Given the description of an element on the screen output the (x, y) to click on. 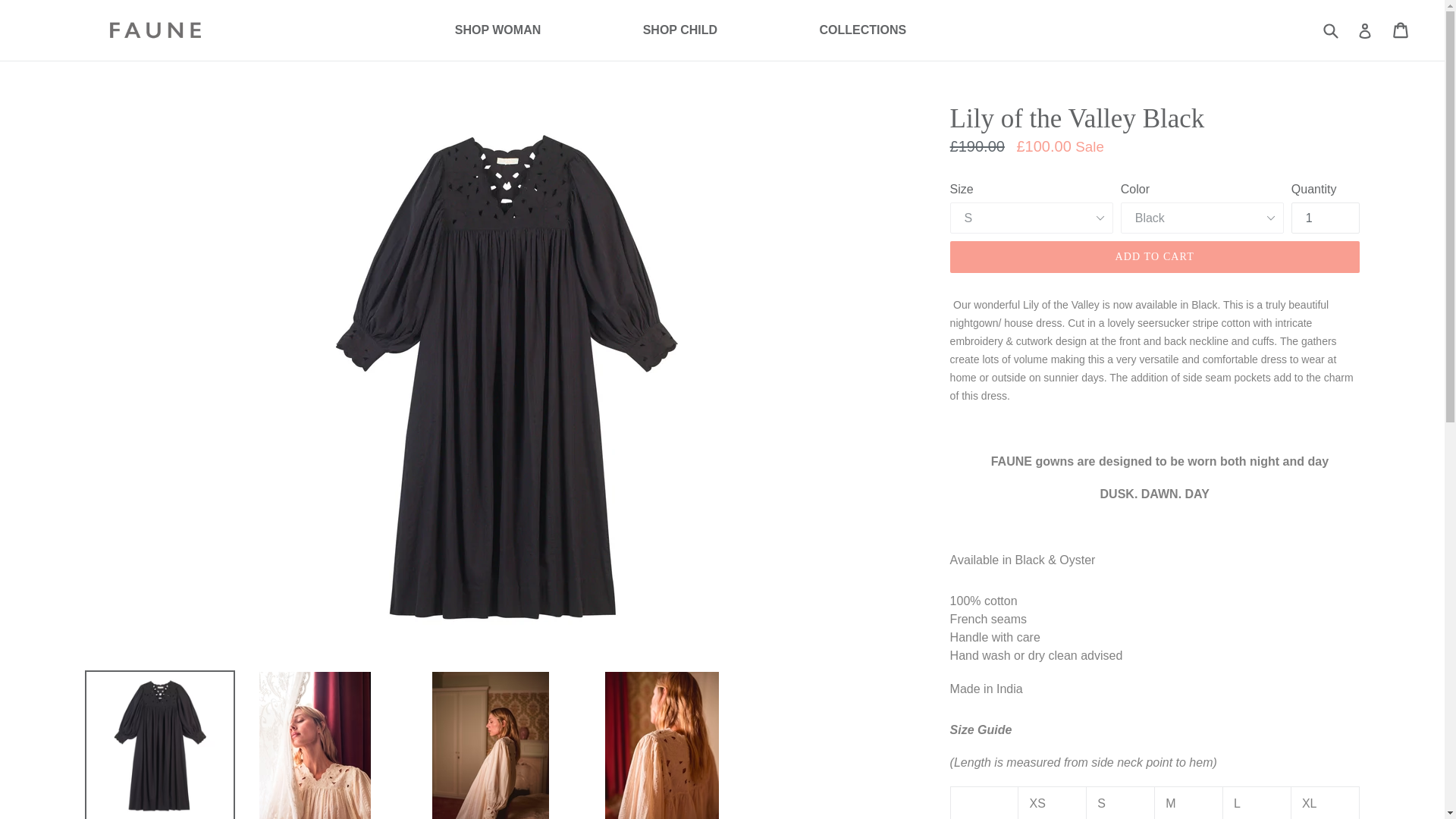
1 (497, 29)
